Given the description of an element on the screen output the (x, y) to click on. 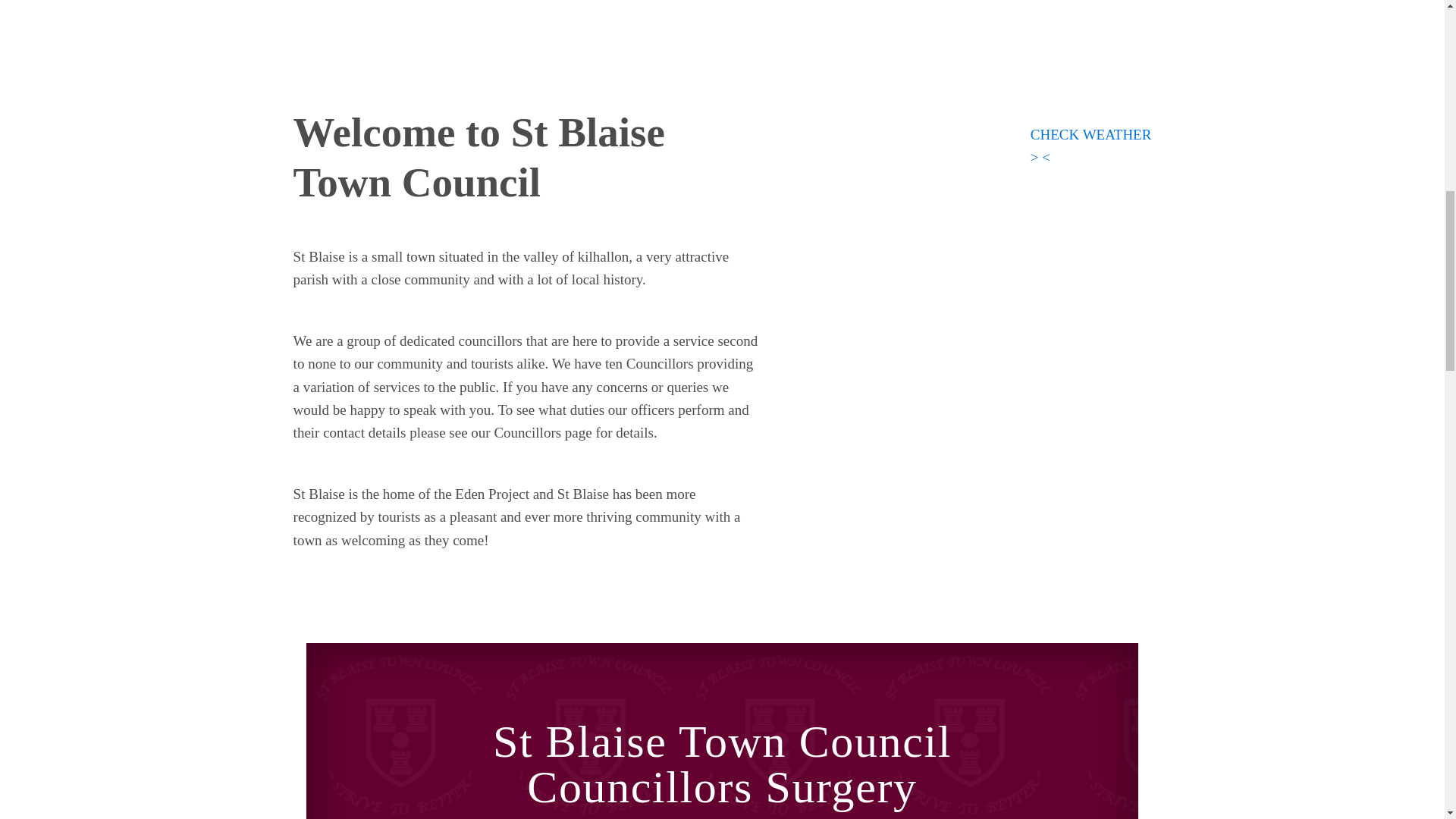
CHECK WEATHER (1090, 134)
